Given the description of an element on the screen output the (x, y) to click on. 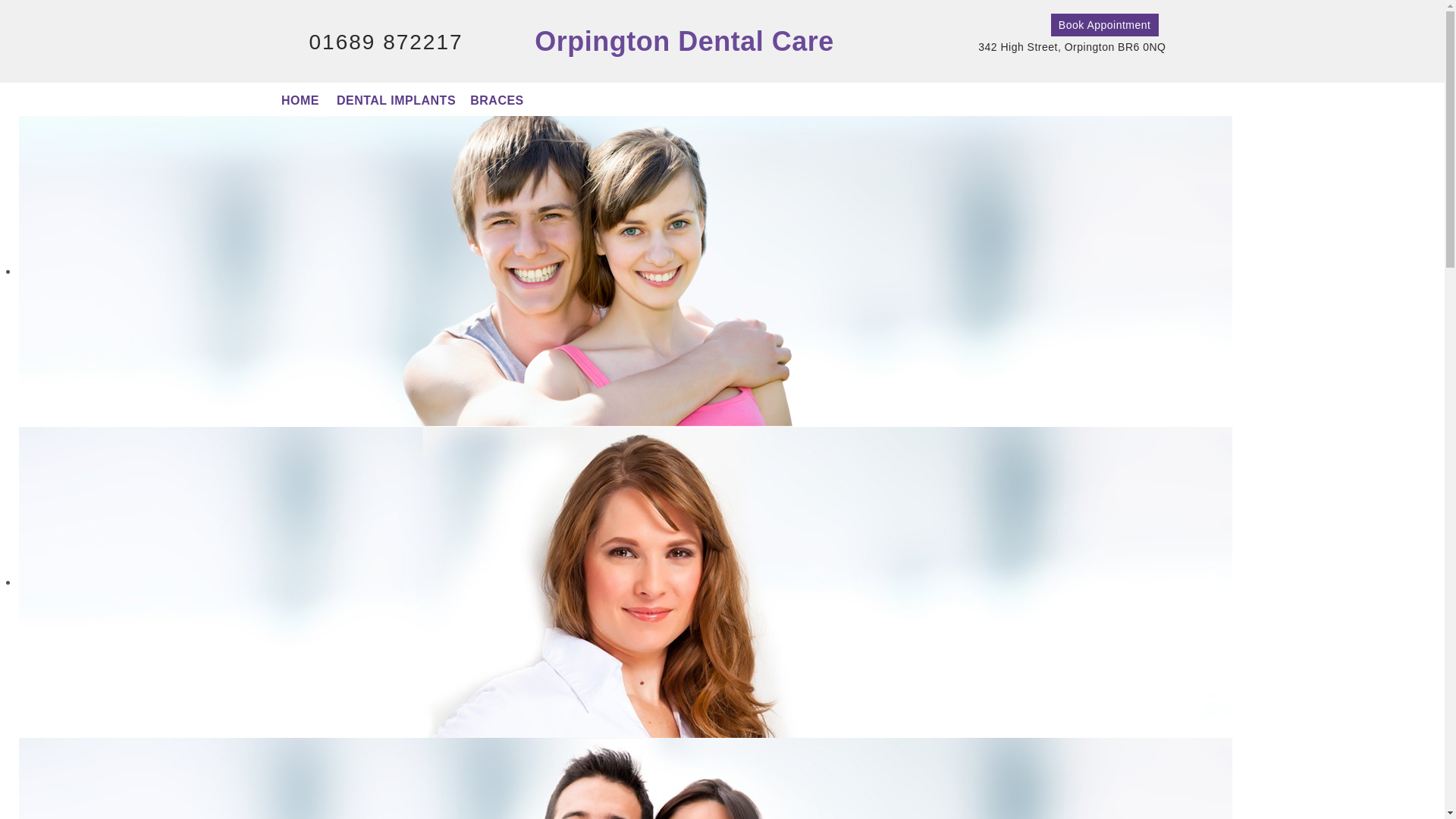
DENTAL IMPLANTS (396, 99)
Orpington Dental Care (684, 40)
Book Appointment (1104, 24)
BRACES (497, 99)
01689 872217 (385, 42)
Dental Implants (396, 99)
HOME (300, 99)
Home (300, 99)
Braces (497, 99)
